Given the description of an element on the screen output the (x, y) to click on. 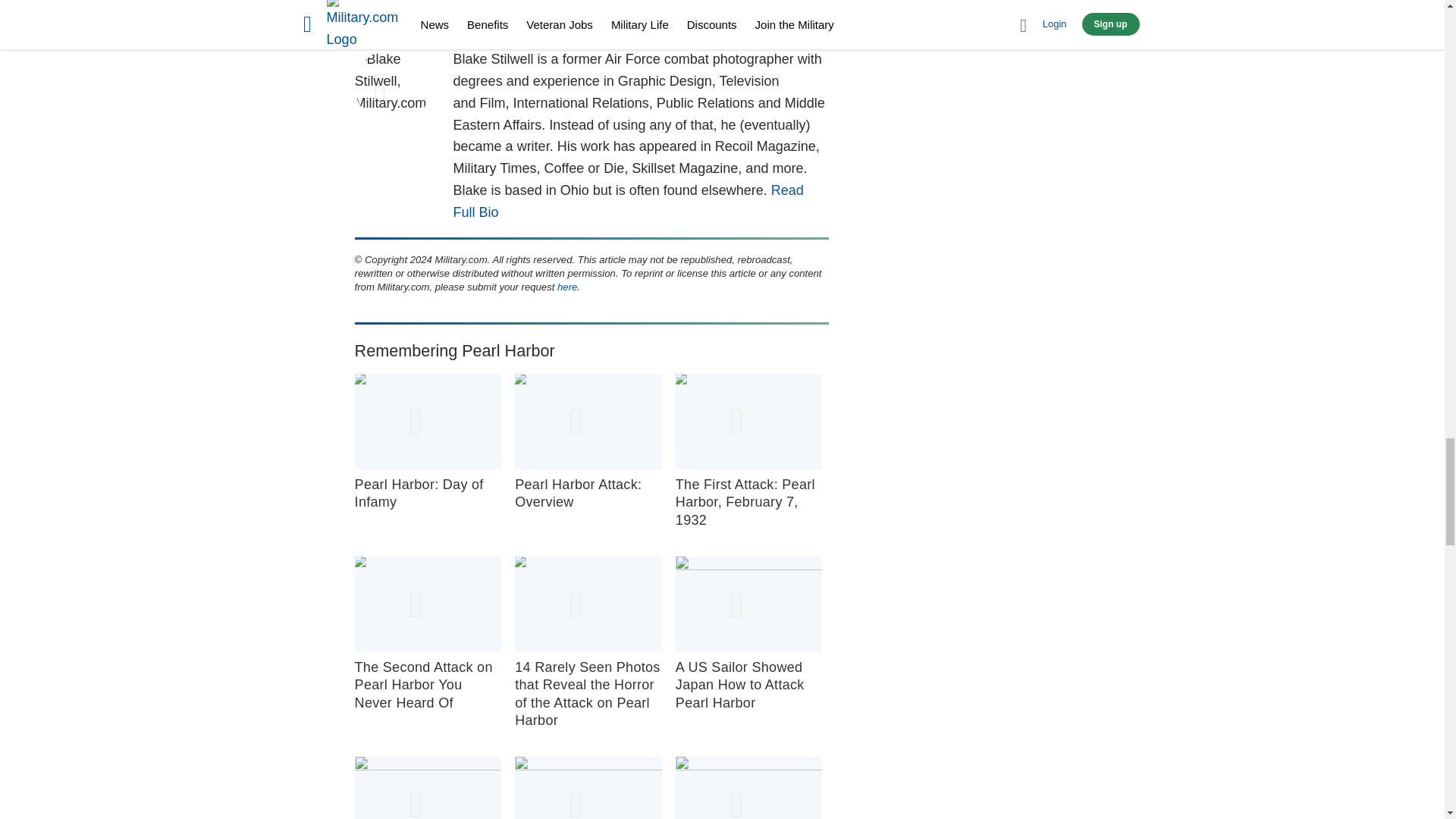
Japanese view of the Pearl Harbor attack in 1941. (748, 421)
